Given the description of an element on the screen output the (x, y) to click on. 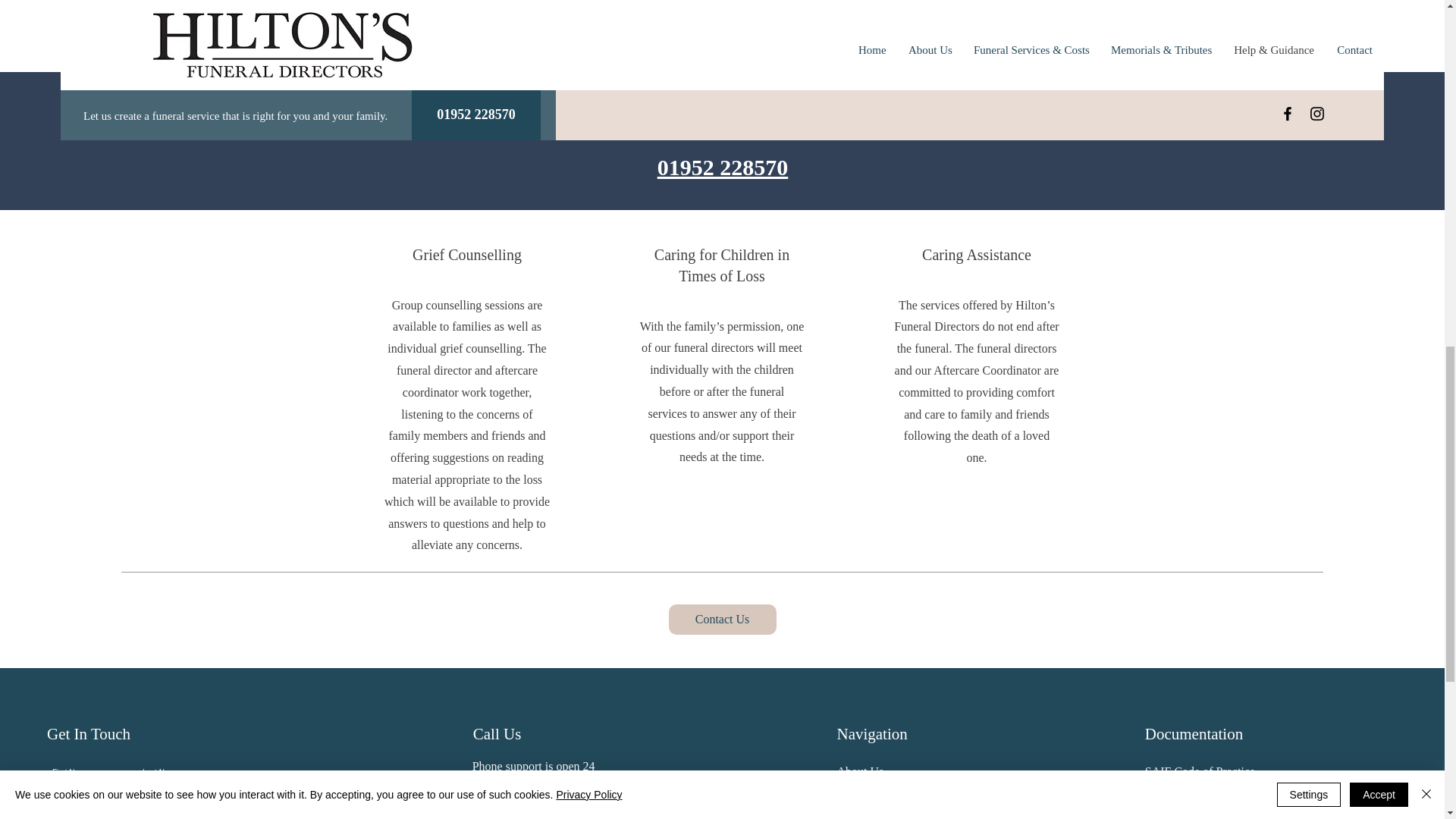
SAIF Code of Practice (1199, 771)
Contact Us (722, 619)
About Us (859, 771)
Hilton's Privacy Policy (1200, 801)
01952 228570 (723, 166)
